Given the description of an element on the screen output the (x, y) to click on. 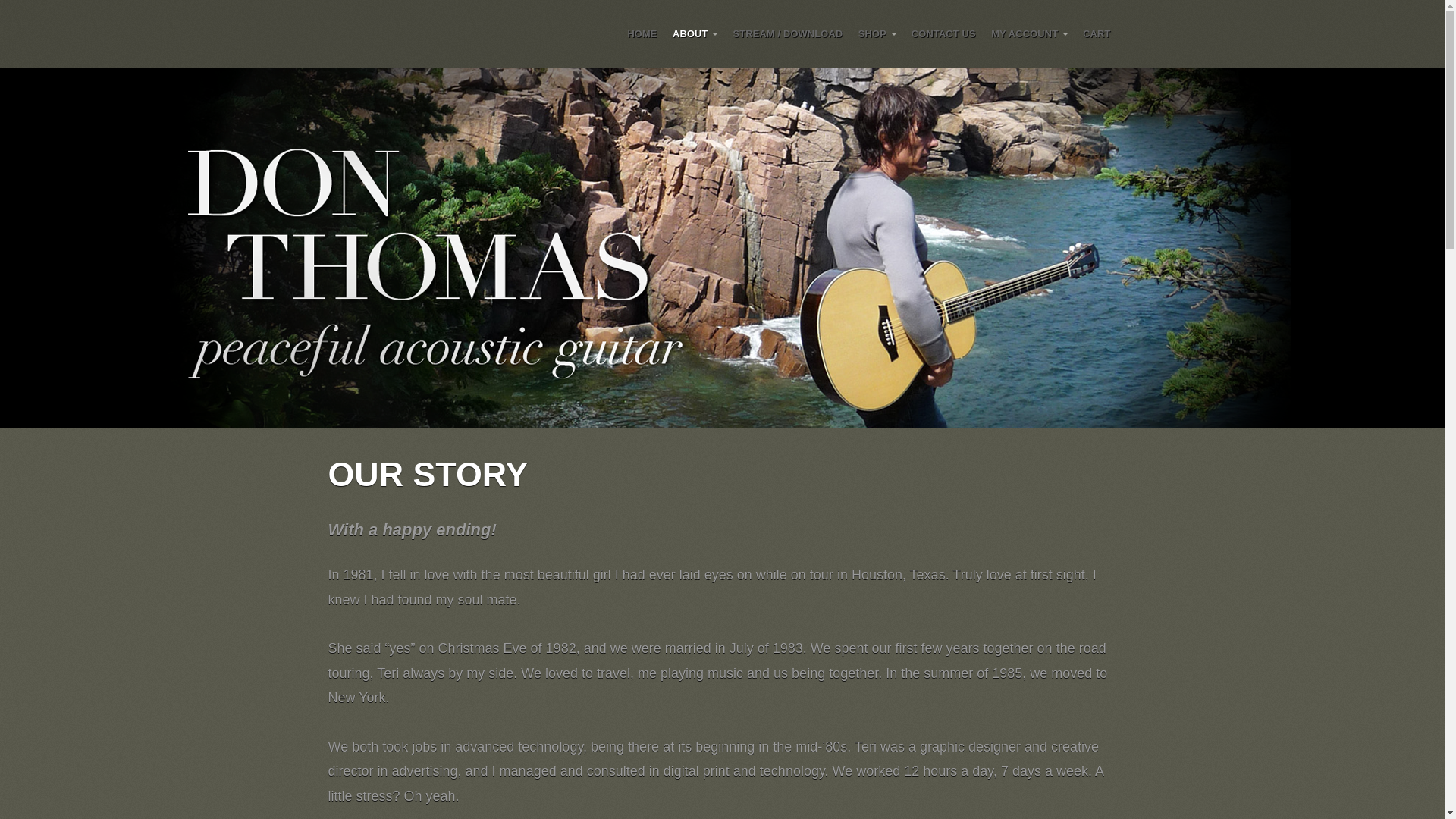
MY ACCOUNT (1029, 33)
CONTACT US (943, 33)
